Given the description of an element on the screen output the (x, y) to click on. 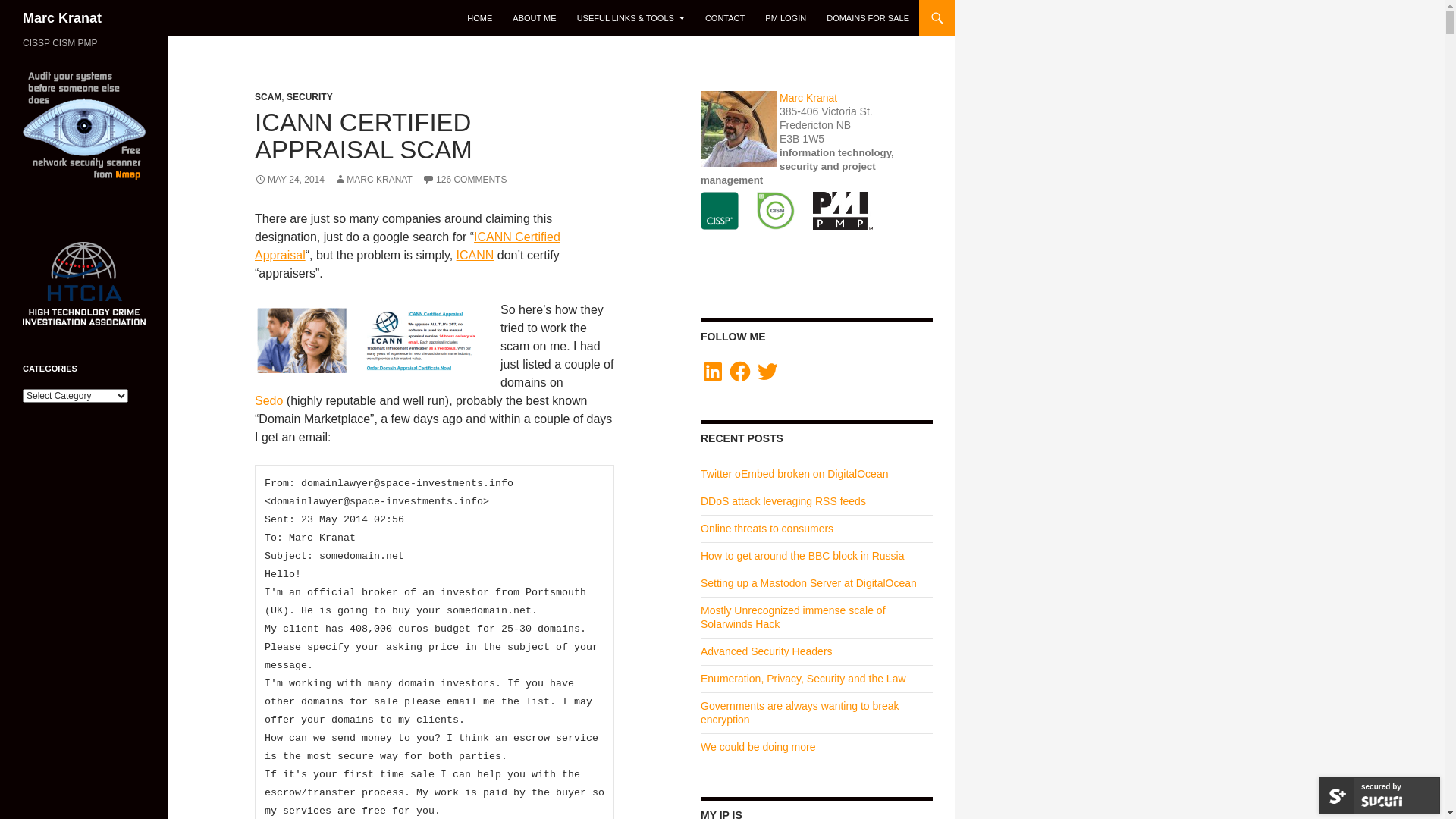
Marc Kranat Element type: text (808, 97)
Facebook Element type: text (740, 371)
MARC KRANAT Element type: text (372, 179)
PM LOGIN Element type: text (785, 18)
DOMAINS FOR SALE Element type: text (867, 18)
DDoS attack leveraging RSS feeds Element type: text (783, 501)
SCAM Element type: text (267, 96)
Sedo Element type: text (268, 400)
CONTACT Element type: text (724, 18)
Twitter oEmbed broken on DigitalOcean Element type: text (794, 473)
126 COMMENTS Element type: text (464, 179)
LinkedIn Element type: text (712, 371)
MAY 24, 2014 Element type: text (289, 179)
SECURITY Element type: text (309, 96)
Setting up a Mastodon Server at DigitalOcean Element type: text (808, 583)
Online threats to consumers Element type: text (766, 528)
Governments are always wanting to break encryption Element type: text (799, 712)
Marc Kranat Element type: text (61, 18)
We could be doing more Element type: text (757, 746)
Twitter Element type: text (767, 371)
Mostly Unrecognized immense scale of Solarwinds Hack Element type: text (792, 617)
Enumeration, Privacy, Security and the Law Element type: text (803, 678)
ABOUT ME Element type: text (533, 18)
ICANN Element type: text (475, 254)
HOME Element type: text (479, 18)
ICANN Certified Appraisal Element type: text (407, 245)
USEFUL LINKS & TOOLS Element type: text (630, 18)
Advanced Security Headers Element type: text (766, 651)
How to get around the BBC block in Russia Element type: text (801, 555)
Nmap Element type: hover (83, 124)
